Given the description of an element on the screen output the (x, y) to click on. 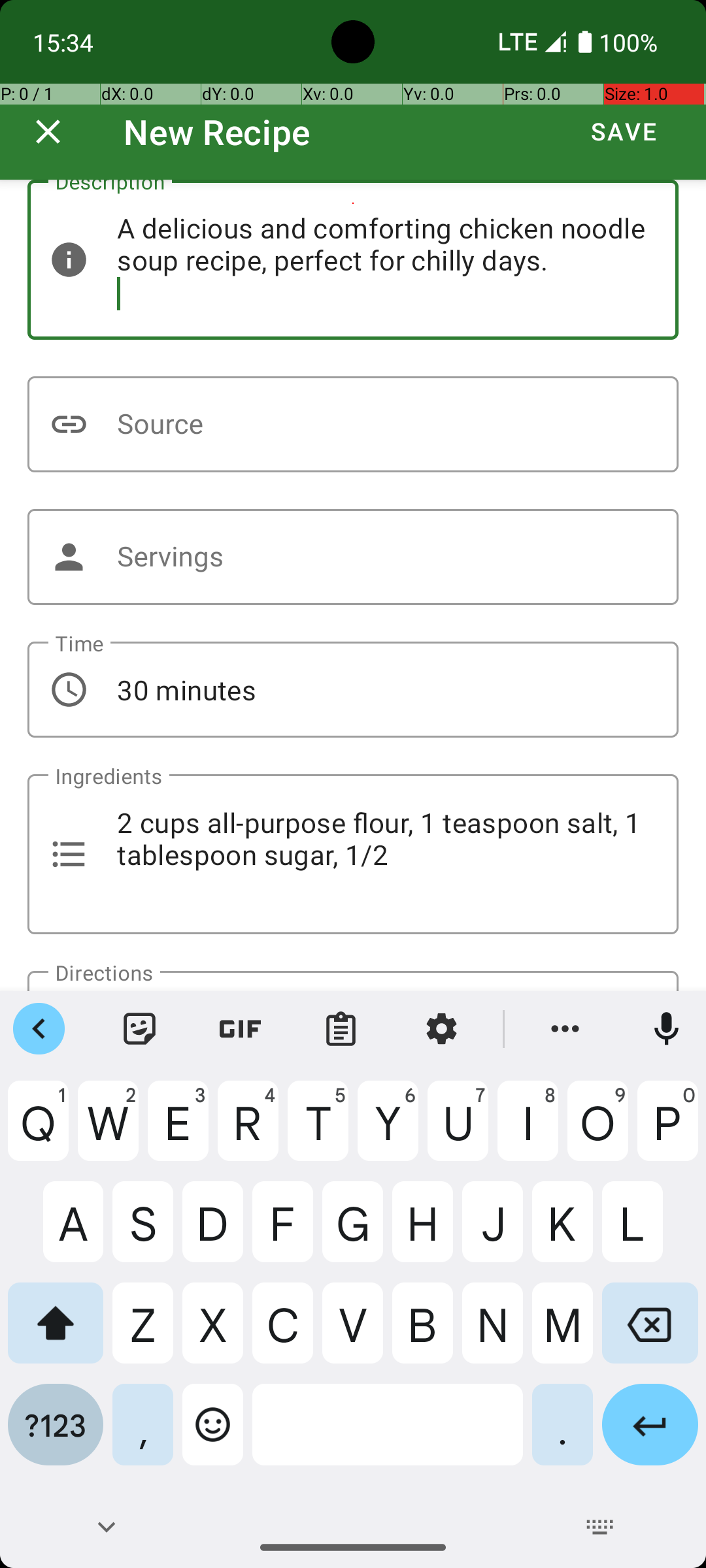
A delicious and comforting chicken noodle soup recipe, perfect for chilly days.
 Element type: android.widget.EditText (352, 259)
30 minutes Element type: android.widget.EditText (352, 689)
2 cups all-purpose flour, 1 teaspoon salt, 1 tablespoon sugar, 1/2
 Element type: android.widget.EditText (352, 854)
Preheat the oven to 375F (190C). In a large bowl, mix the flour
 Element type: android.widget.EditText (352, 980)
